Given the description of an element on the screen output the (x, y) to click on. 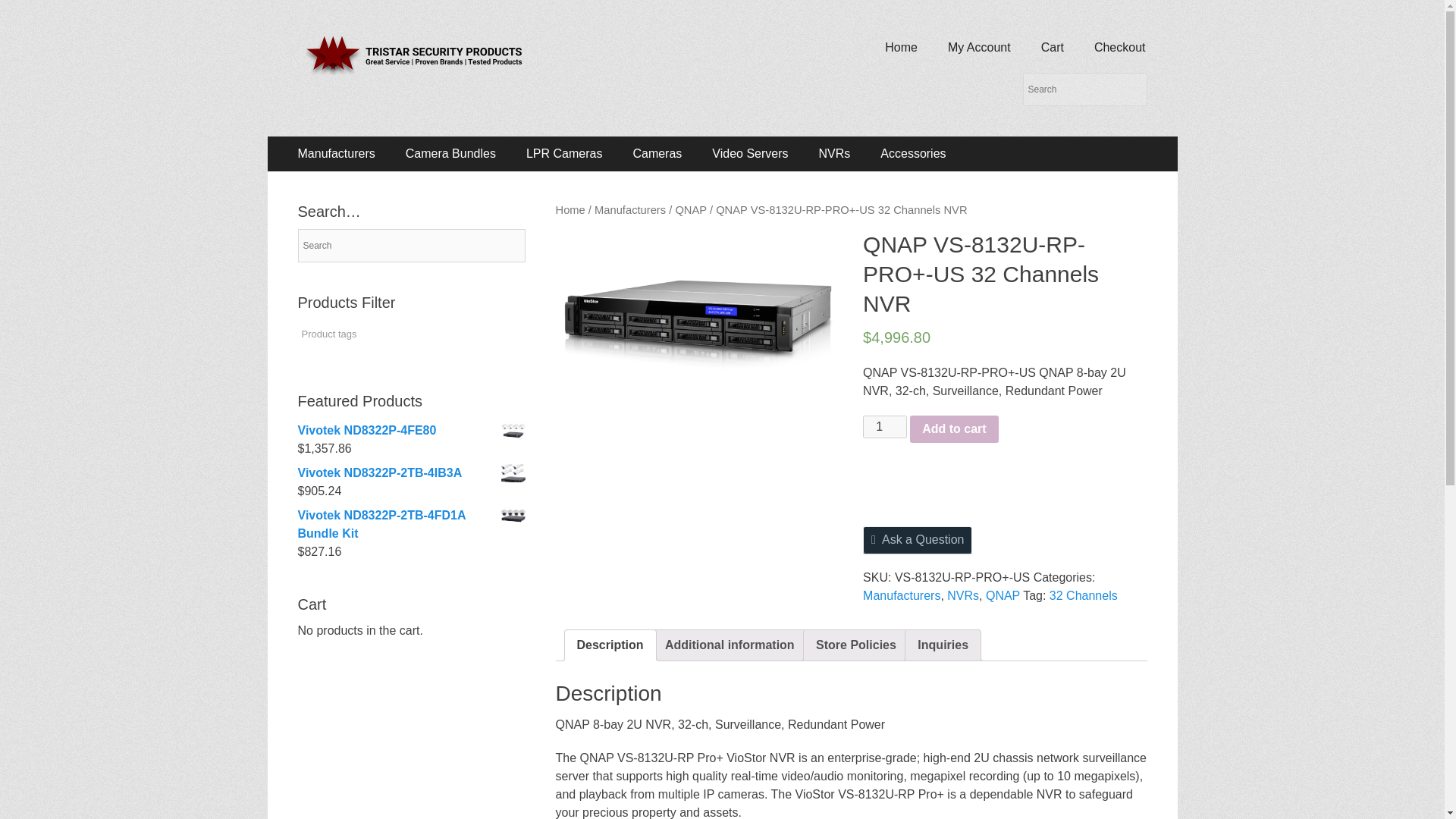
Manufacturers (336, 153)
My Account (979, 47)
Home (901, 47)
TriStar Security Products (470, 48)
Product tags (338, 333)
Cart (1052, 47)
1 (885, 426)
Product tags (338, 333)
PayPal (1005, 483)
LPR Cameras (564, 153)
Checkout (1119, 47)
Video Servers (750, 153)
Qty (885, 426)
